Given the description of an element on the screen output the (x, y) to click on. 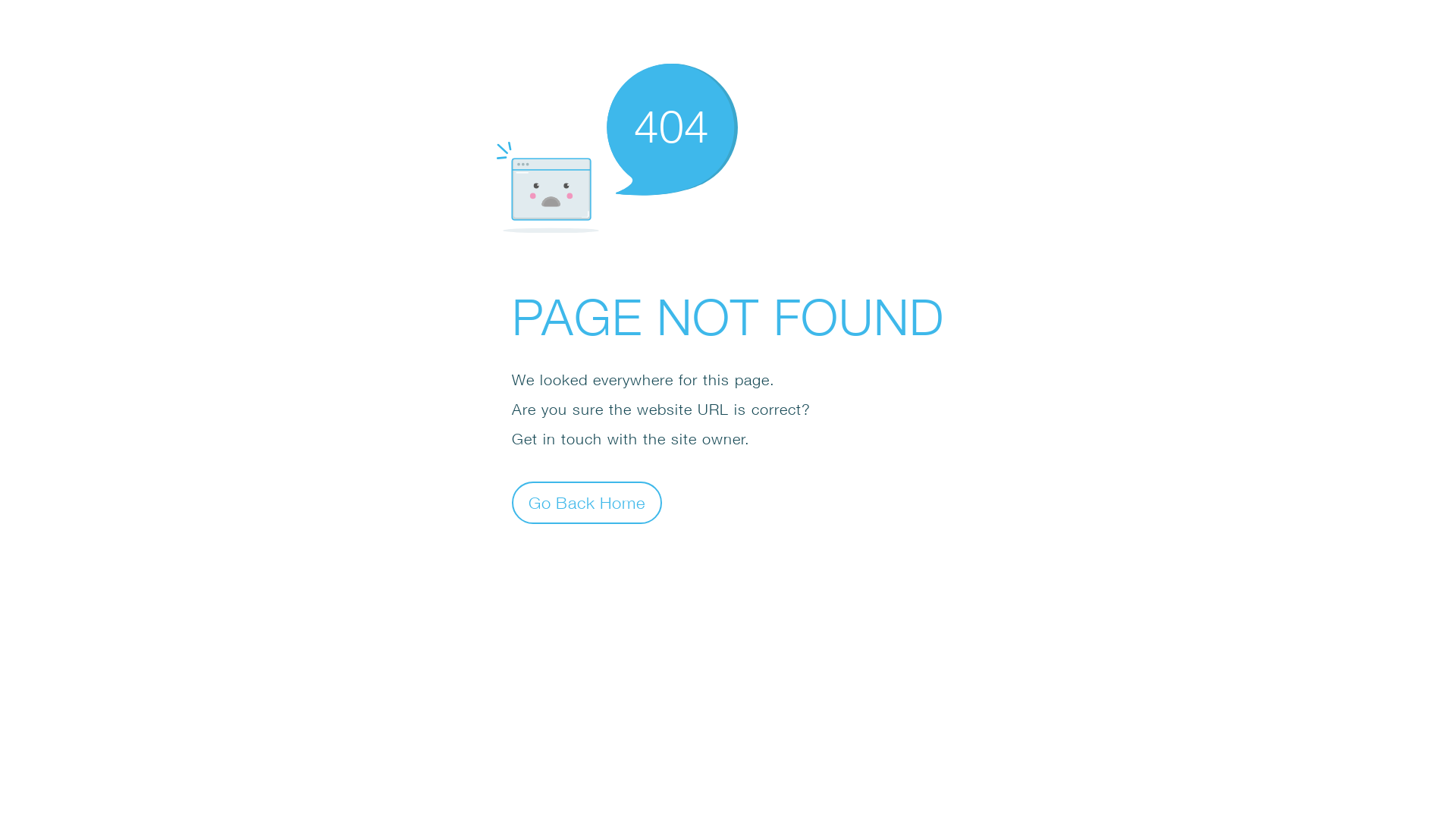
Go Back Home Element type: text (586, 502)
